Given the description of an element on the screen output the (x, y) to click on. 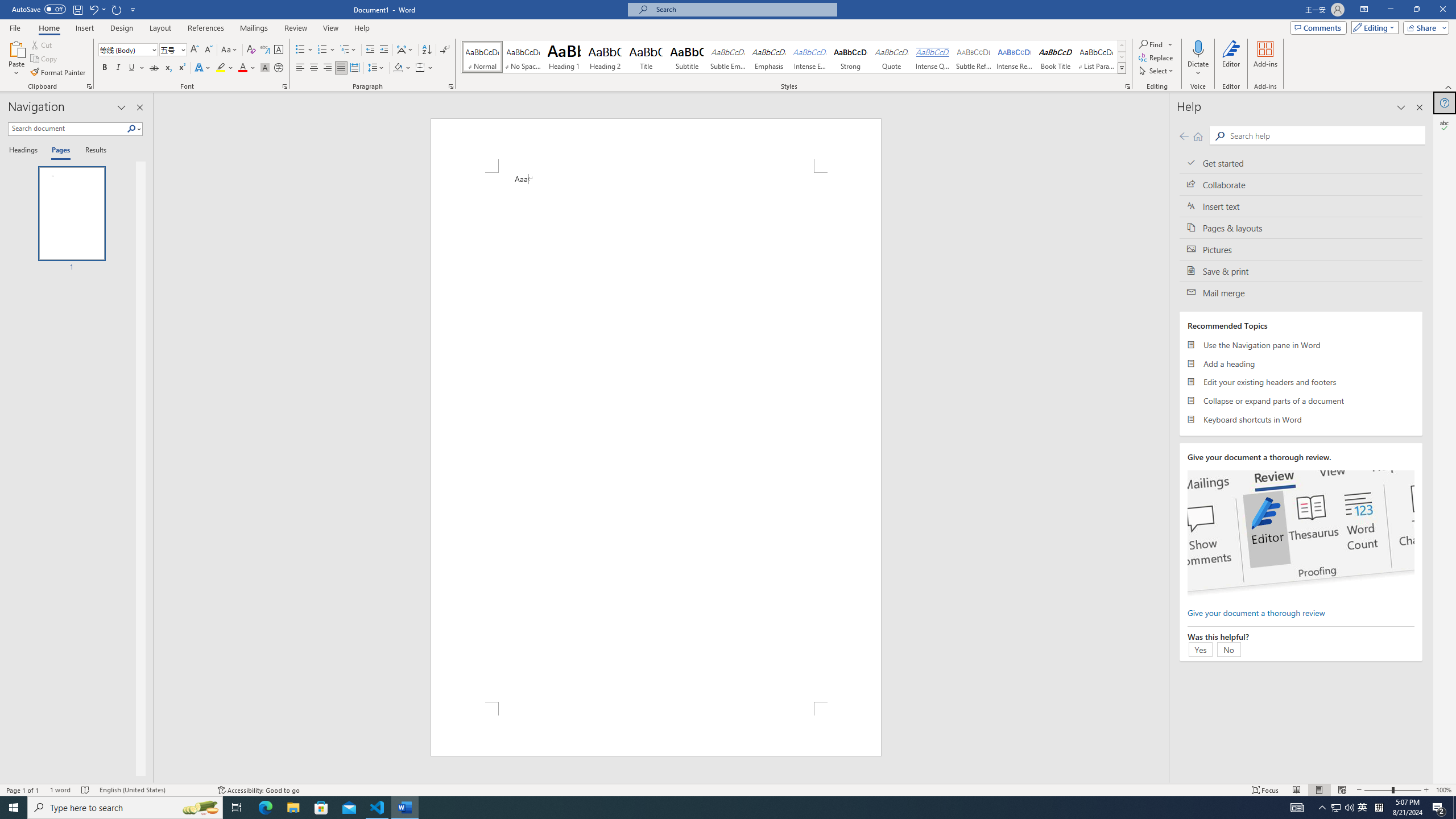
Keyboard shortcuts in Word (1300, 419)
Get started (1300, 162)
